Given the description of an element on the screen output the (x, y) to click on. 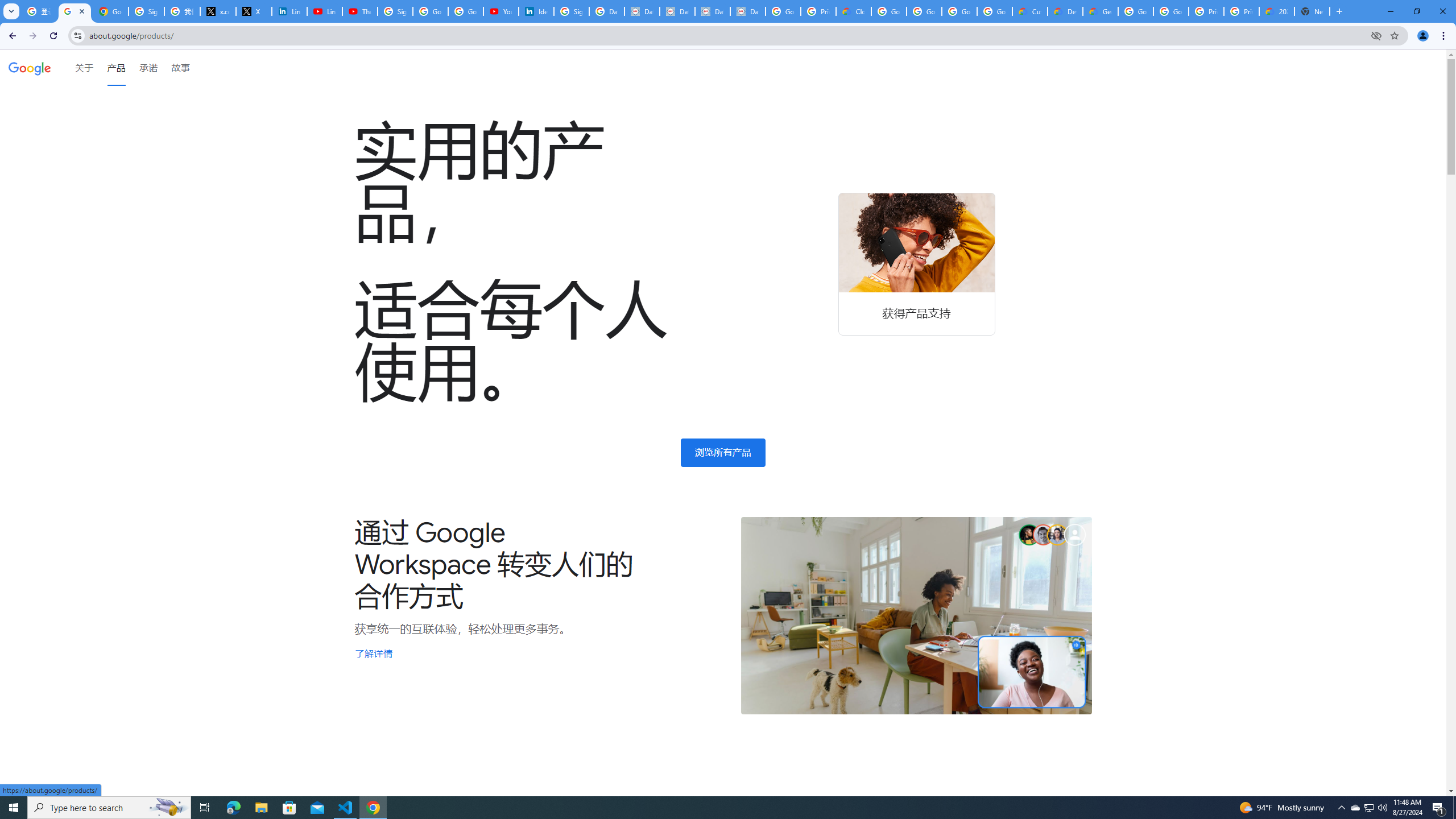
Sign in - Google Accounts (571, 11)
